Given the description of an element on the screen output the (x, y) to click on. 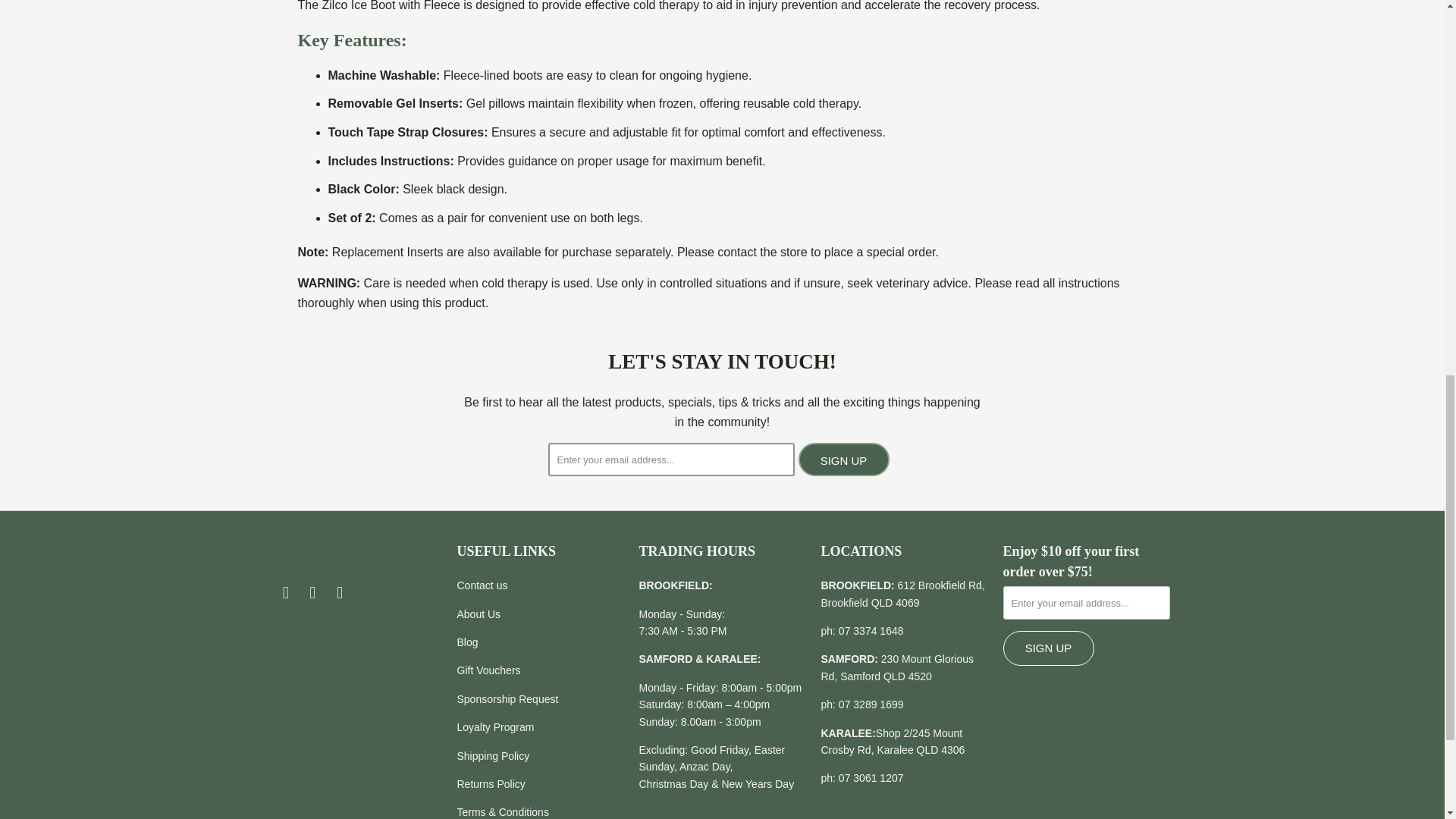
Sign Up (842, 459)
Brookies Rural Traders on Instagram (312, 592)
Brookies Rural Traders on Facebook (286, 592)
Brookies Rural Traders on YouTube (340, 592)
Sign Up (1048, 647)
